Given the description of an element on the screen output the (x, y) to click on. 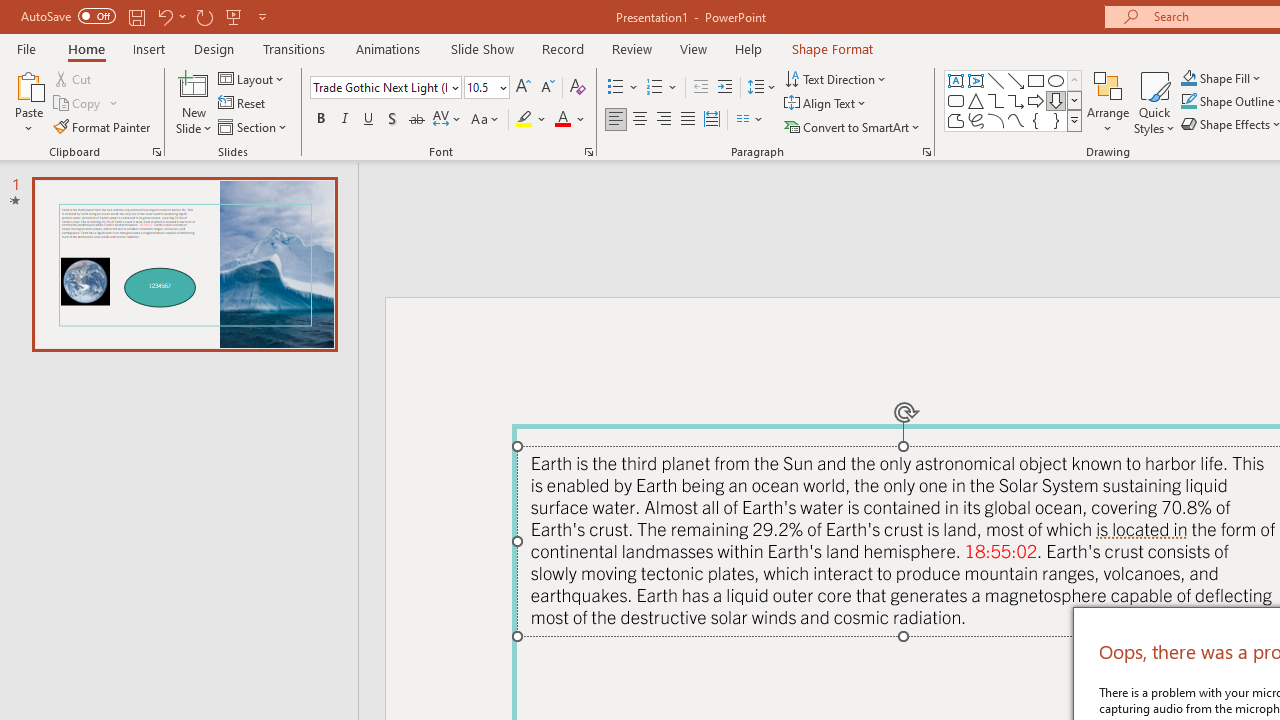
Decrease Indent (700, 87)
Justify (687, 119)
Font... (588, 151)
Align Left (616, 119)
AutoSave (68, 16)
Design (214, 48)
Change Case (486, 119)
Cut (73, 78)
Row up (1074, 79)
Arc (995, 120)
